Given the description of an element on the screen output the (x, y) to click on. 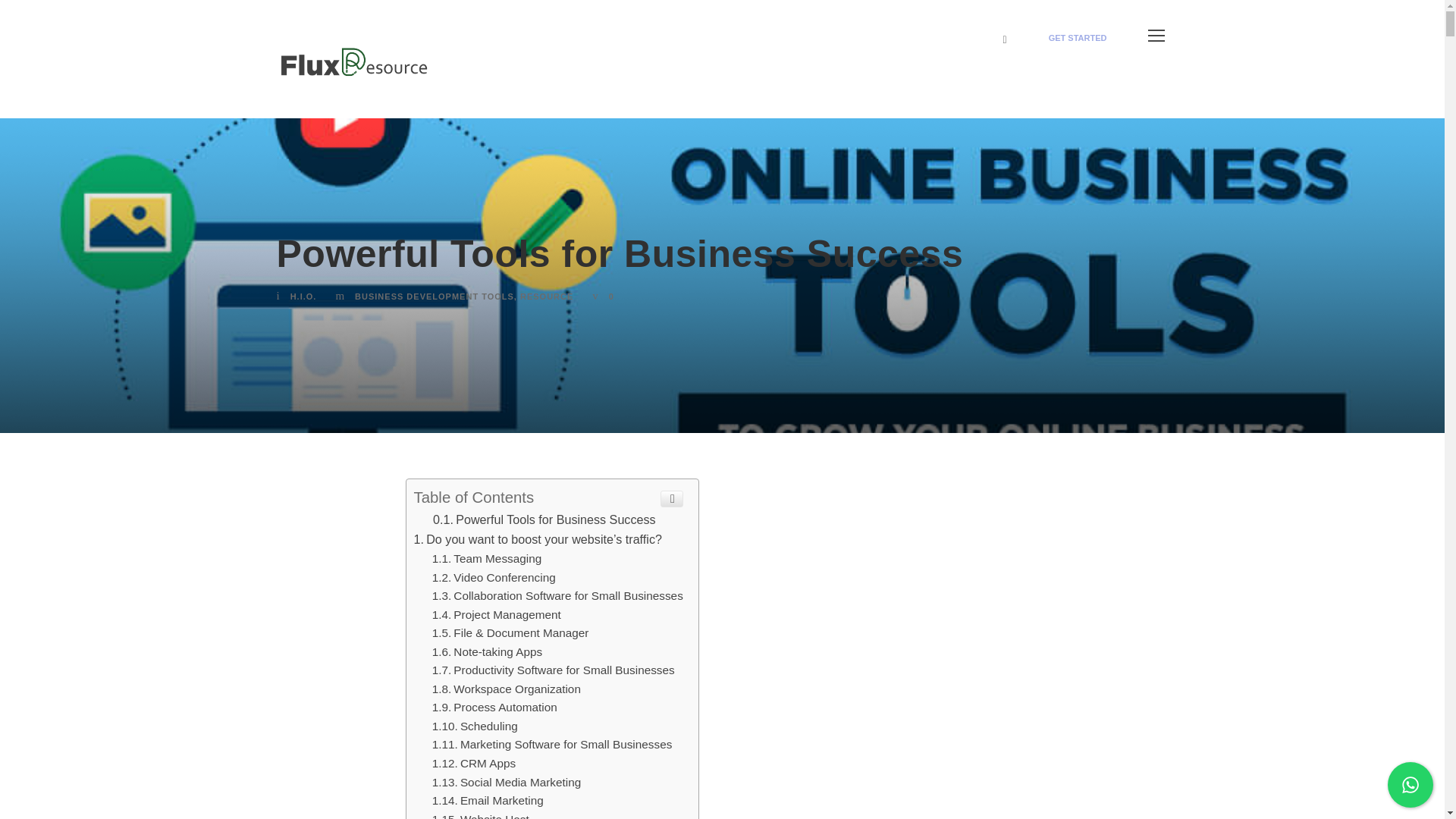
Posts by H.I.O. (303, 295)
Video Conferencing (494, 576)
RESOURCE (546, 295)
Project Management (496, 614)
Collaboration Software for Small Businesses (557, 594)
Website Host (480, 816)
H.I.O. (303, 295)
Powerful Tools for Business Success (544, 519)
Project Management (496, 614)
Marketing Software for Small Businesses (552, 744)
